Given the description of an element on the screen output the (x, y) to click on. 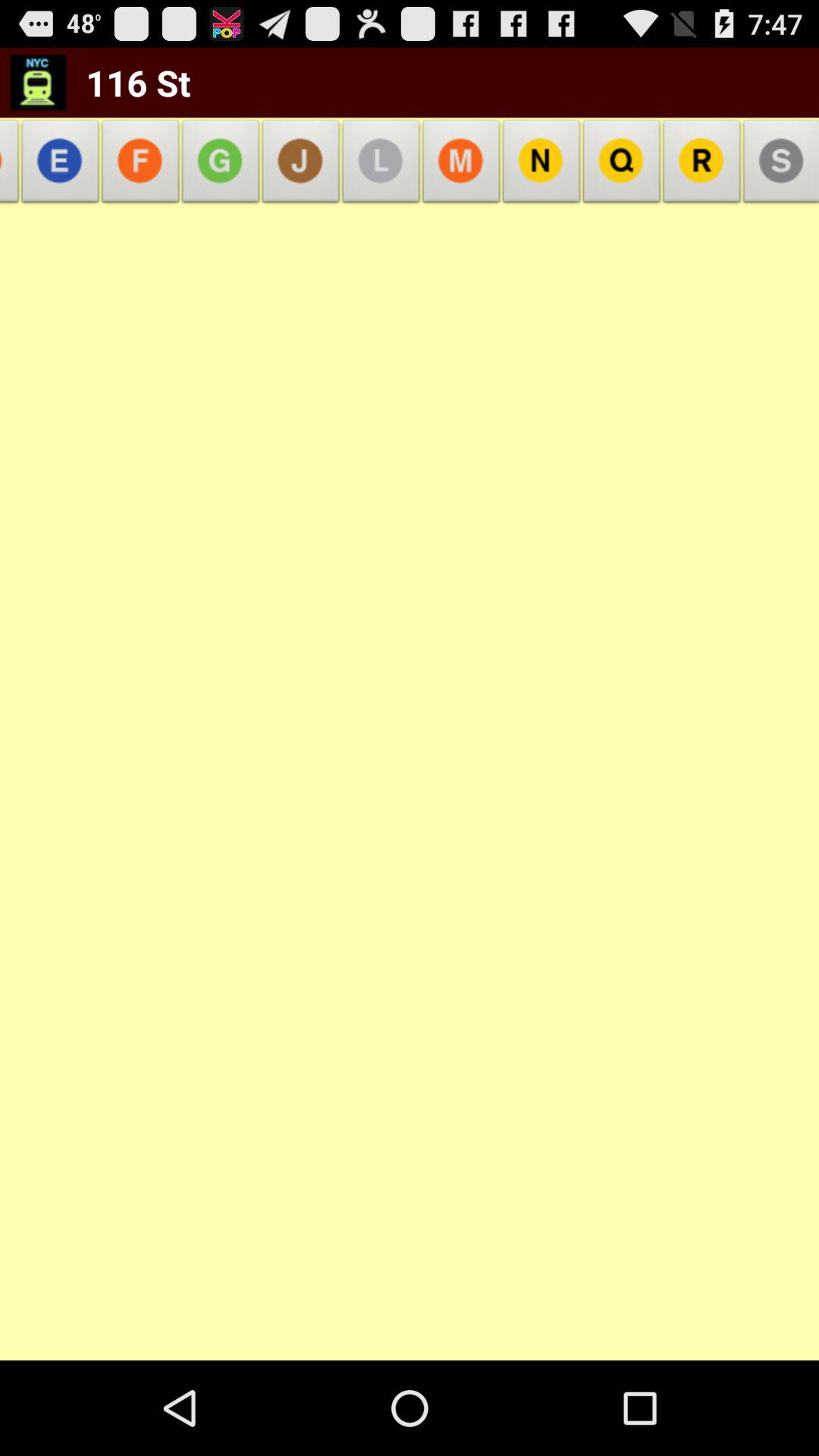
launch the item below 116 st icon (60, 165)
